Given the description of an element on the screen output the (x, y) to click on. 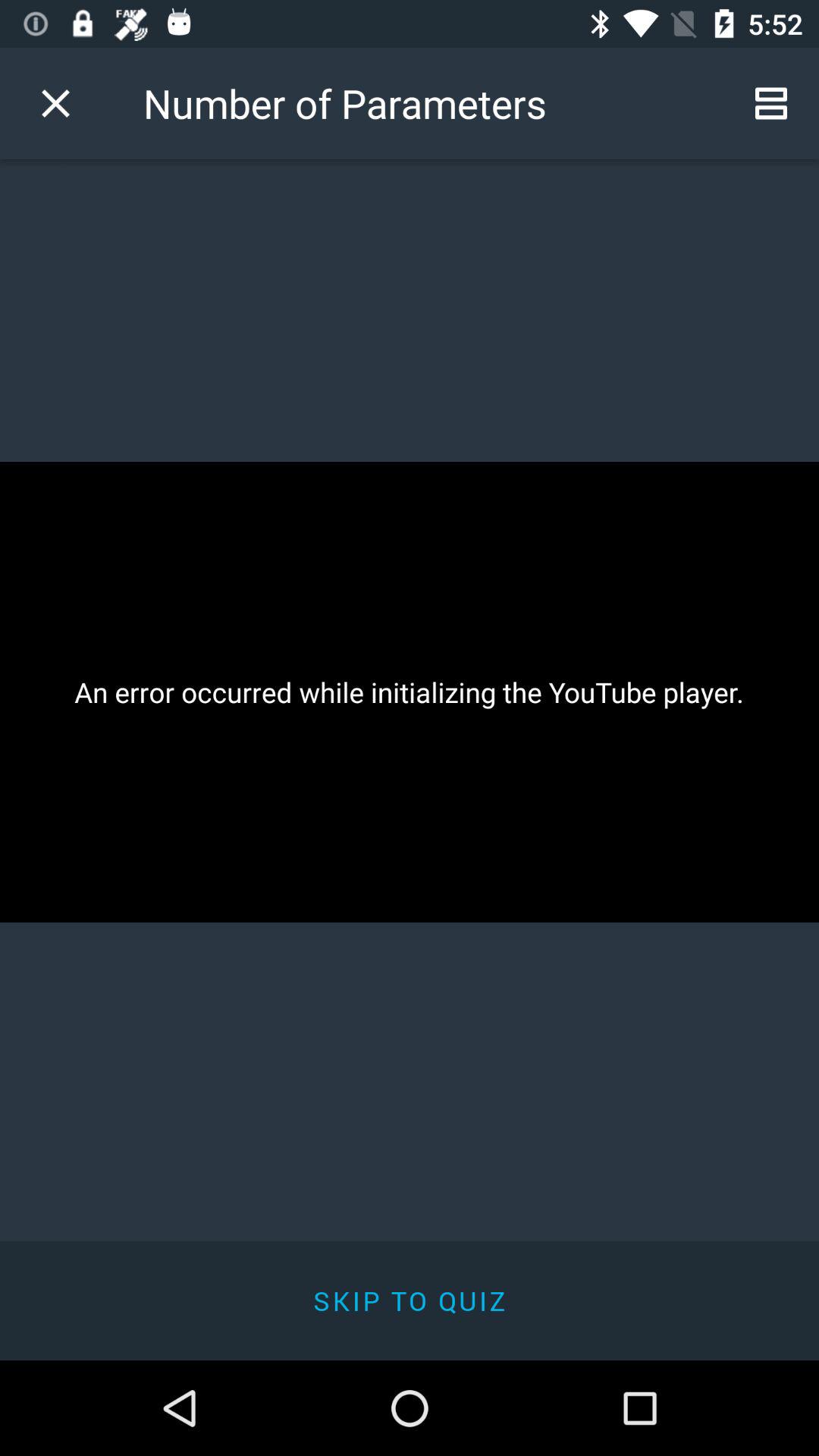
press item above the an error occurred app (771, 103)
